Given the description of an element on the screen output the (x, y) to click on. 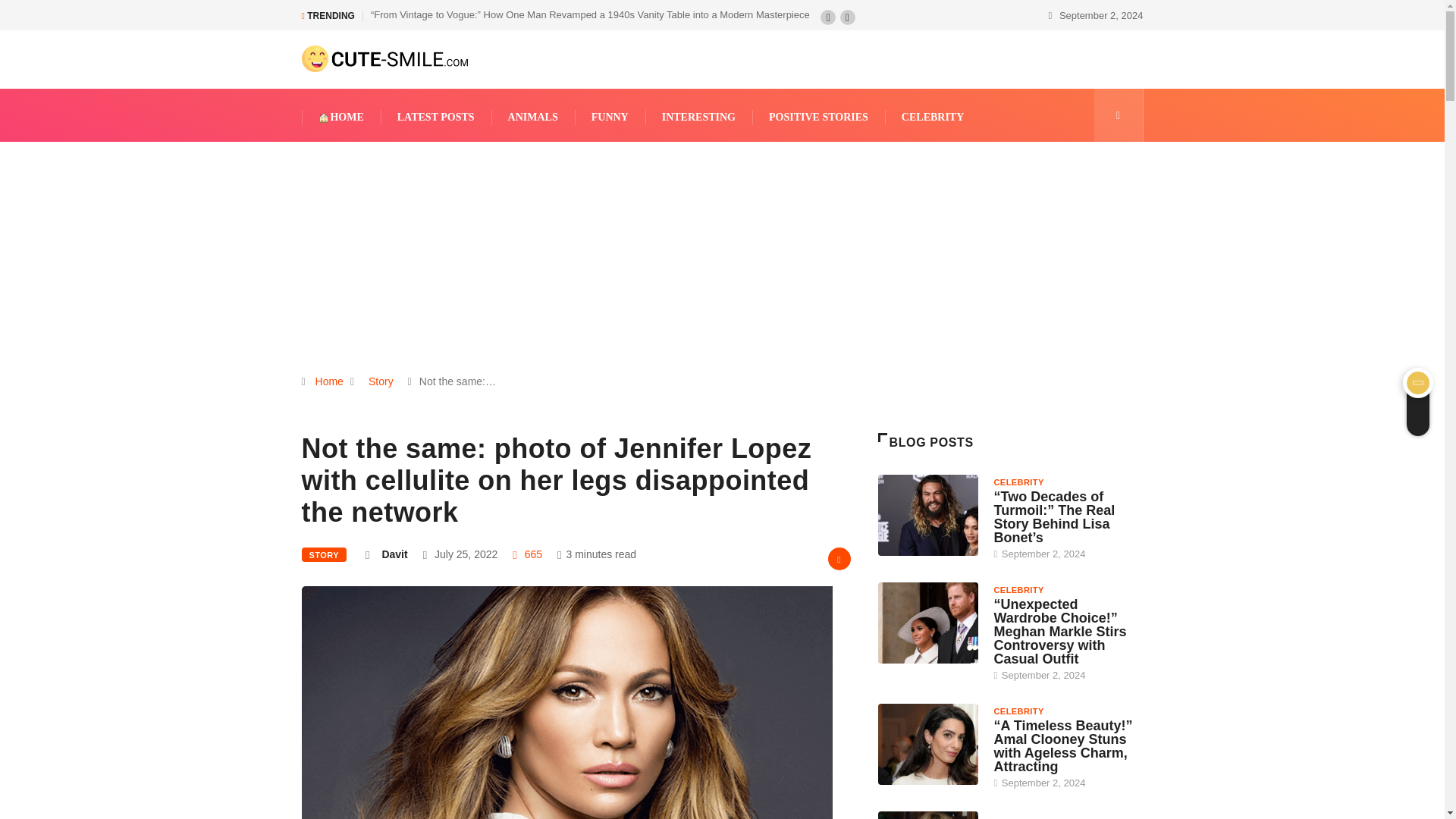
POSITIVE STORIES (818, 116)
Story (380, 381)
Davit (394, 553)
INTERESTING (698, 116)
ANIMALS (533, 116)
popup modal for search (1117, 114)
LATEST POSTS (436, 116)
FUNNY (610, 116)
Home (329, 381)
